Given the description of an element on the screen output the (x, y) to click on. 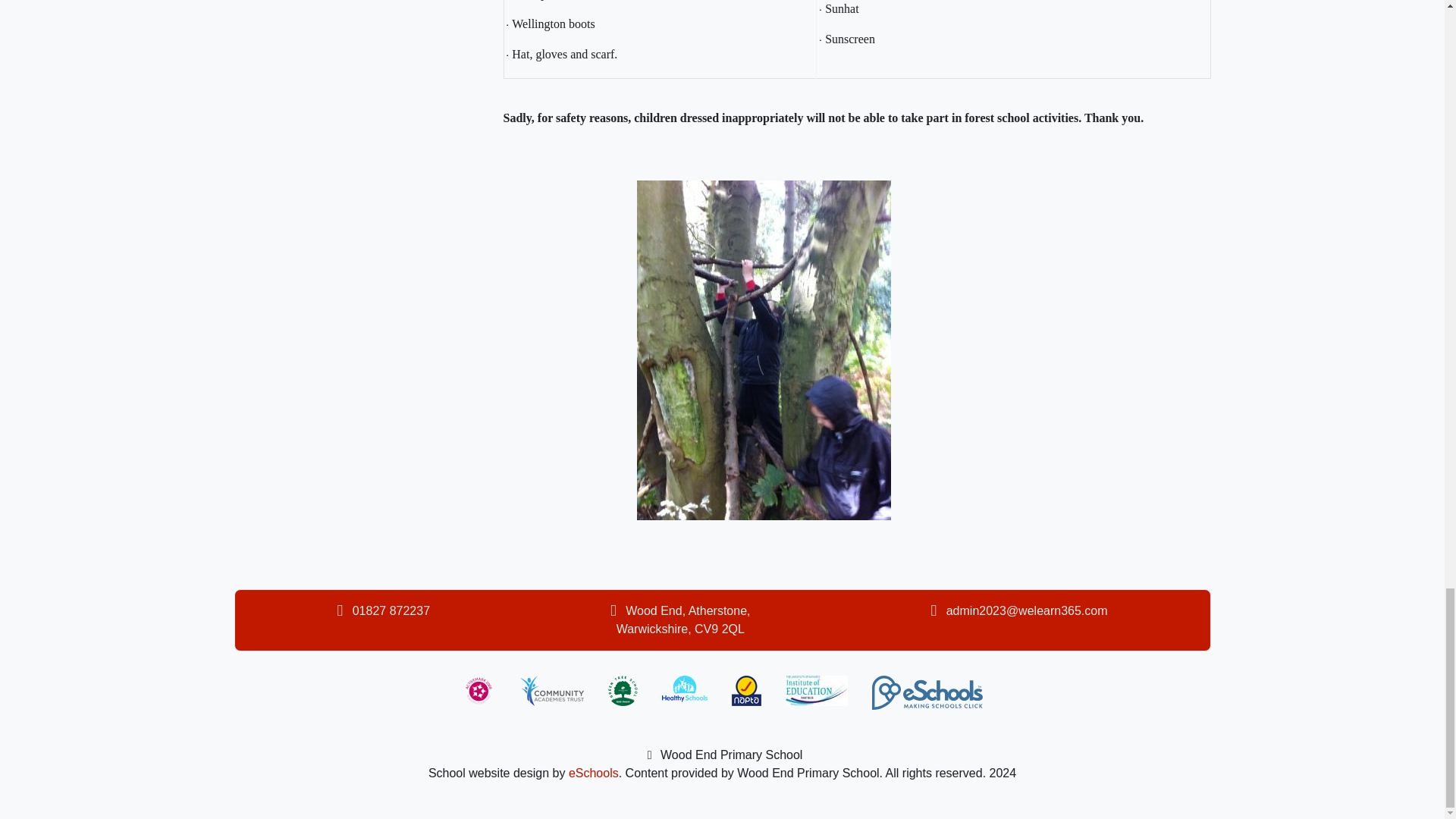
Green Tree School Gold Award (622, 690)
CAT (551, 690)
Healthy Schools (684, 690)
Napta (746, 690)
Activemark 2008 (478, 690)
Warwick Uni (816, 690)
